Given the description of an element on the screen output the (x, y) to click on. 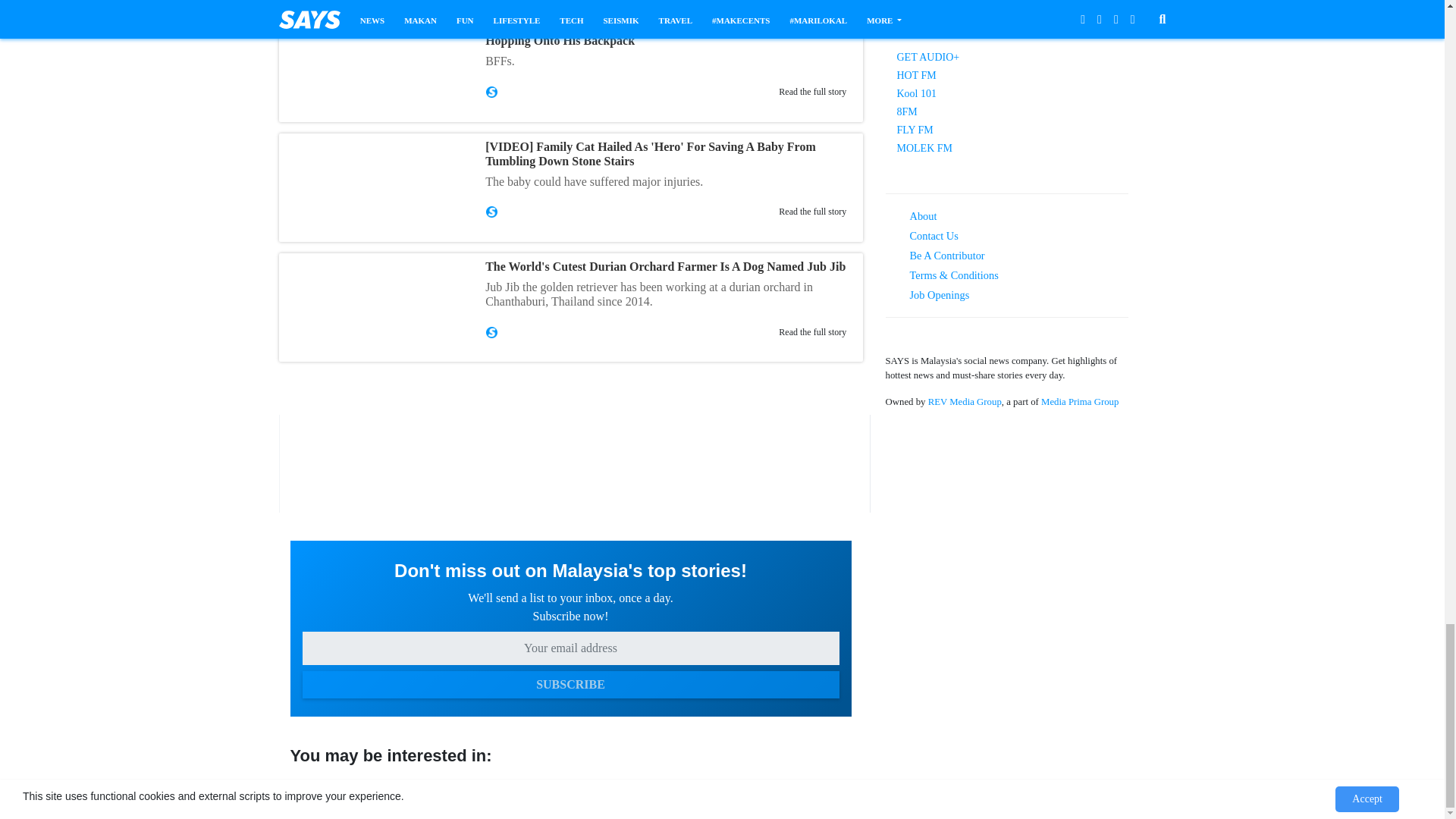
Subscribe (569, 684)
